Given the description of an element on the screen output the (x, y) to click on. 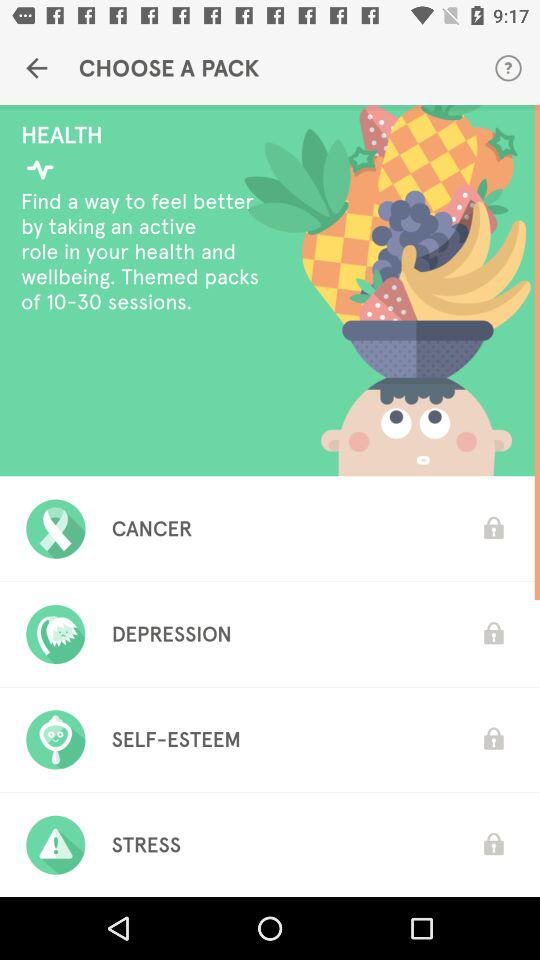
tap cancer icon (151, 528)
